Given the description of an element on the screen output the (x, y) to click on. 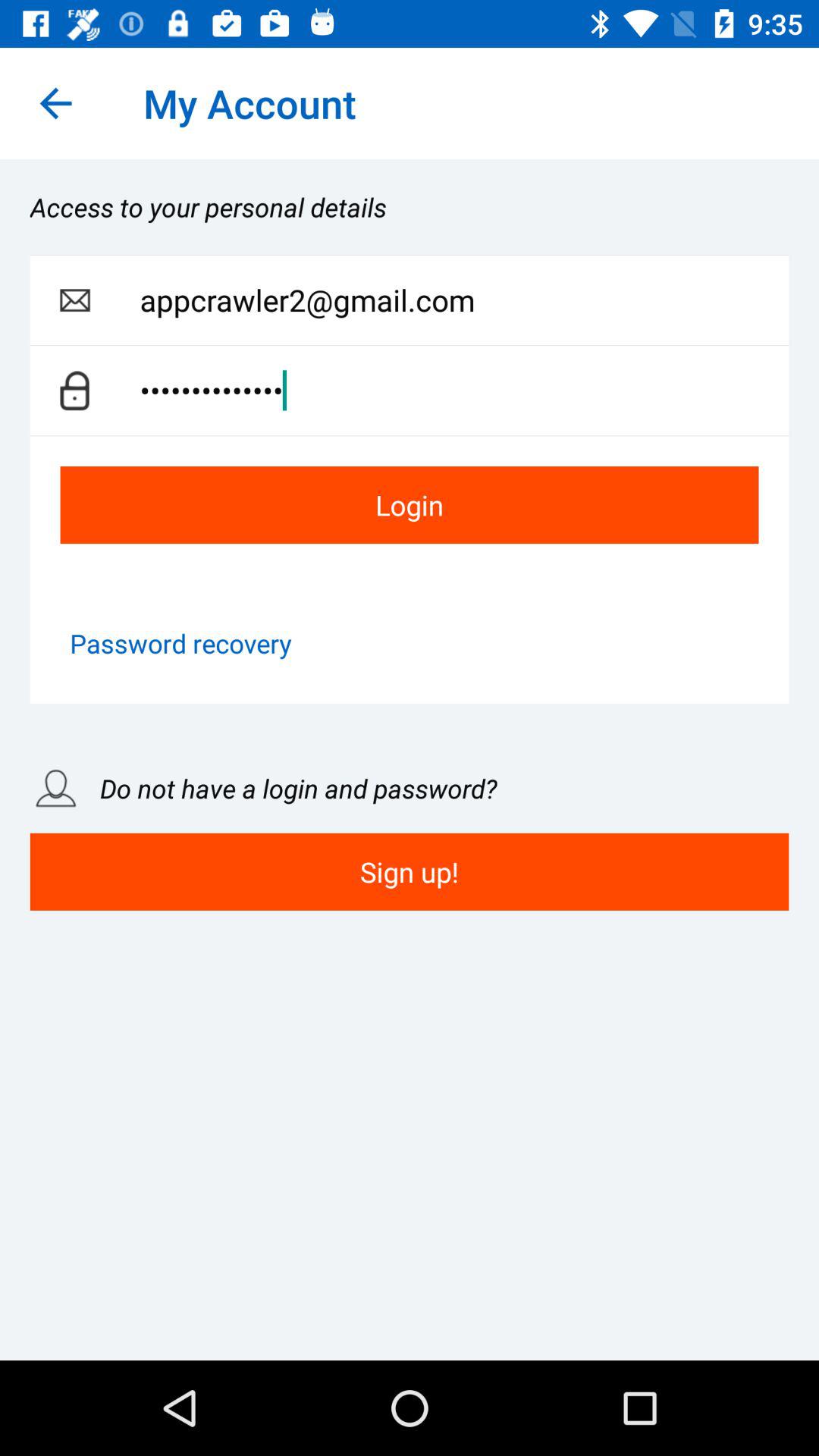
scroll to the password recovery (180, 643)
